Given the description of an element on the screen output the (x, y) to click on. 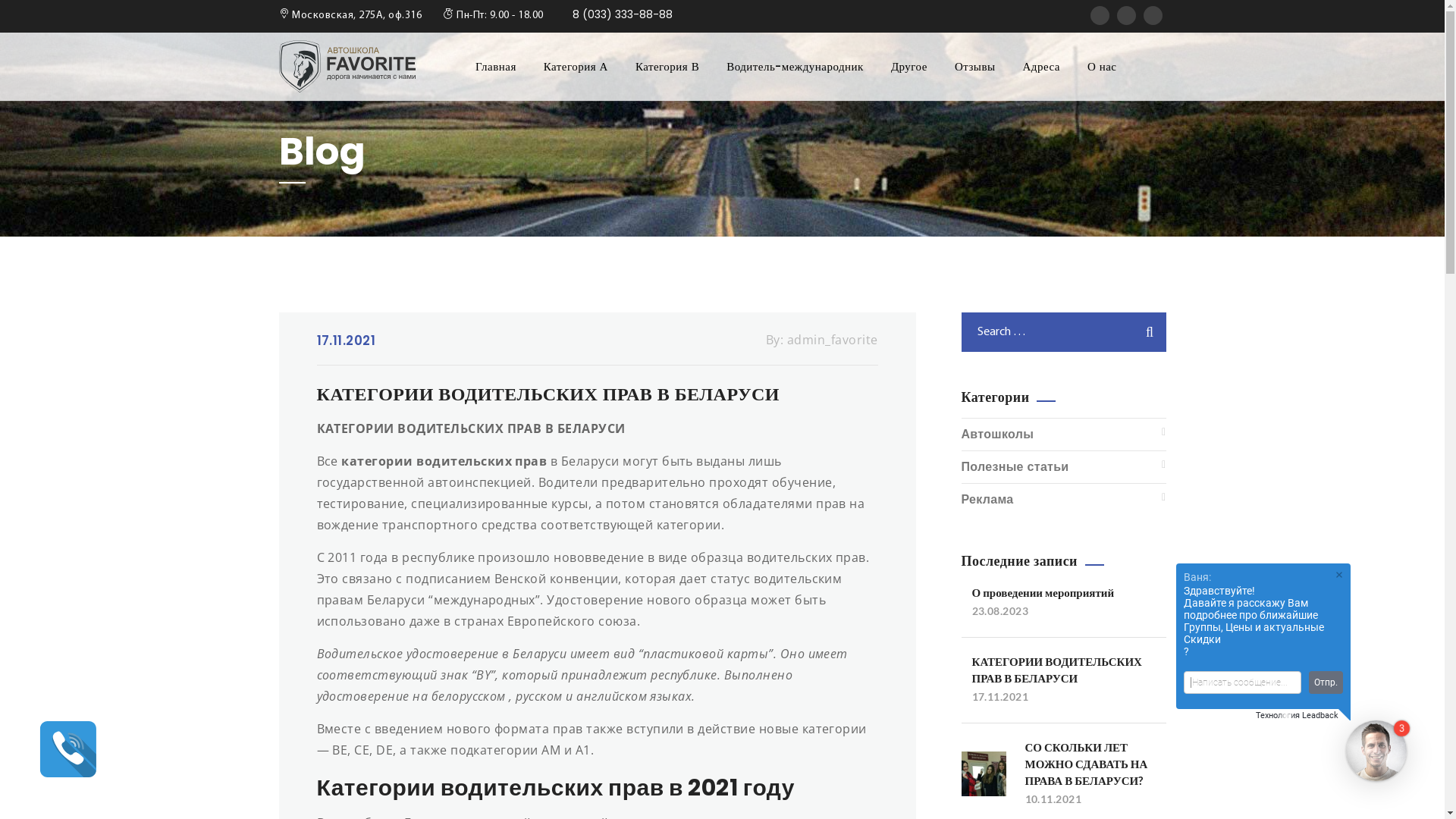
admin_favorite Element type: text (832, 339)
Youtube Element type: hover (1152, 15)
8 (033) 333-88-88 Element type: text (618, 13)
Vk Element type: hover (1125, 15)
17.11.2021 Element type: text (346, 340)
Search Element type: text (1142, 332)
Instagram Element type: hover (1099, 15)
